Given the description of an element on the screen output the (x, y) to click on. 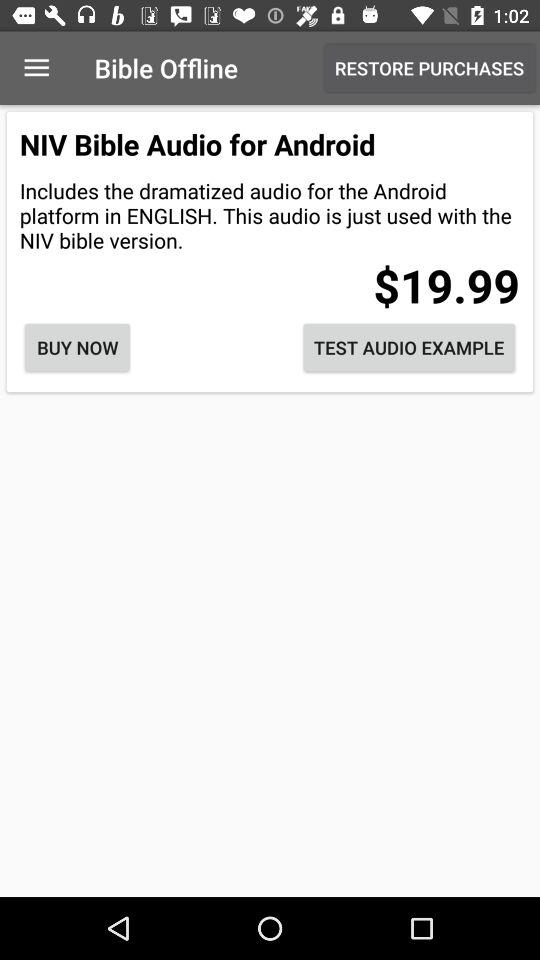
turn off test audio example (409, 347)
